Given the description of an element on the screen output the (x, y) to click on. 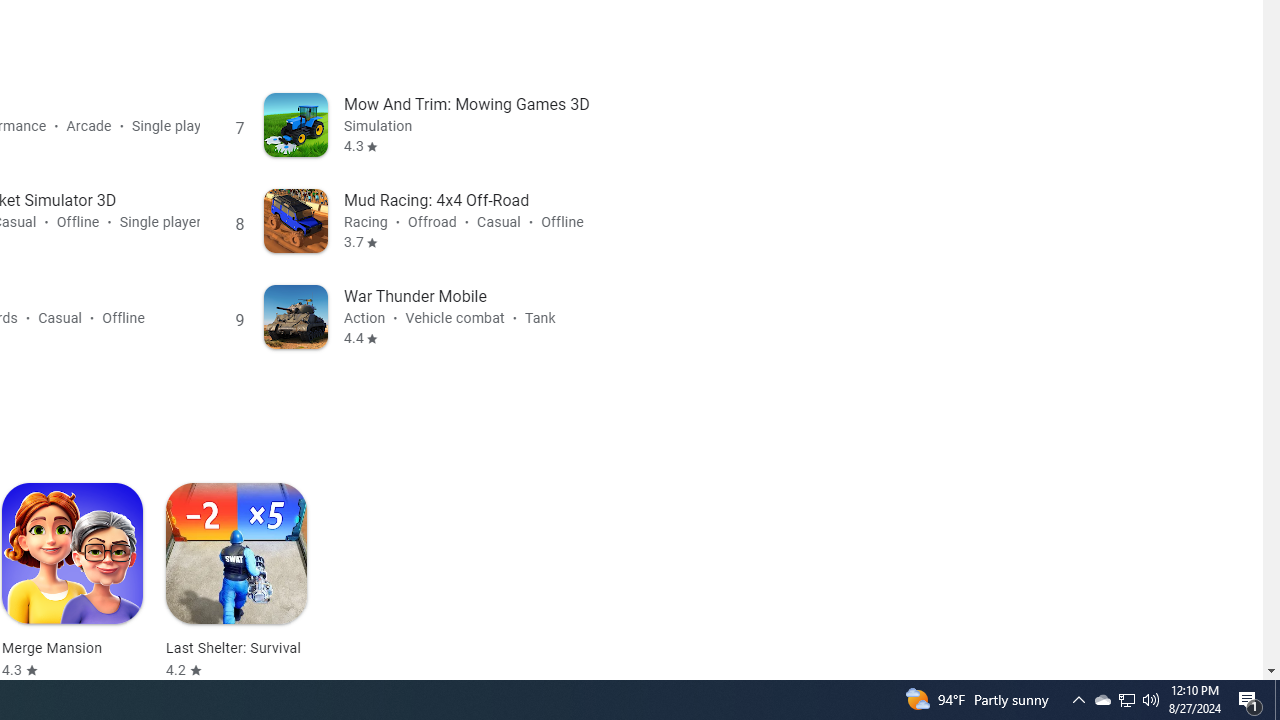
Merge Mansion Rated 4.3 stars out of five stars (72, 581)
Last Shelter: Survival Rated 4.2 stars out of five stars (236, 581)
